Given the description of an element on the screen output the (x, y) to click on. 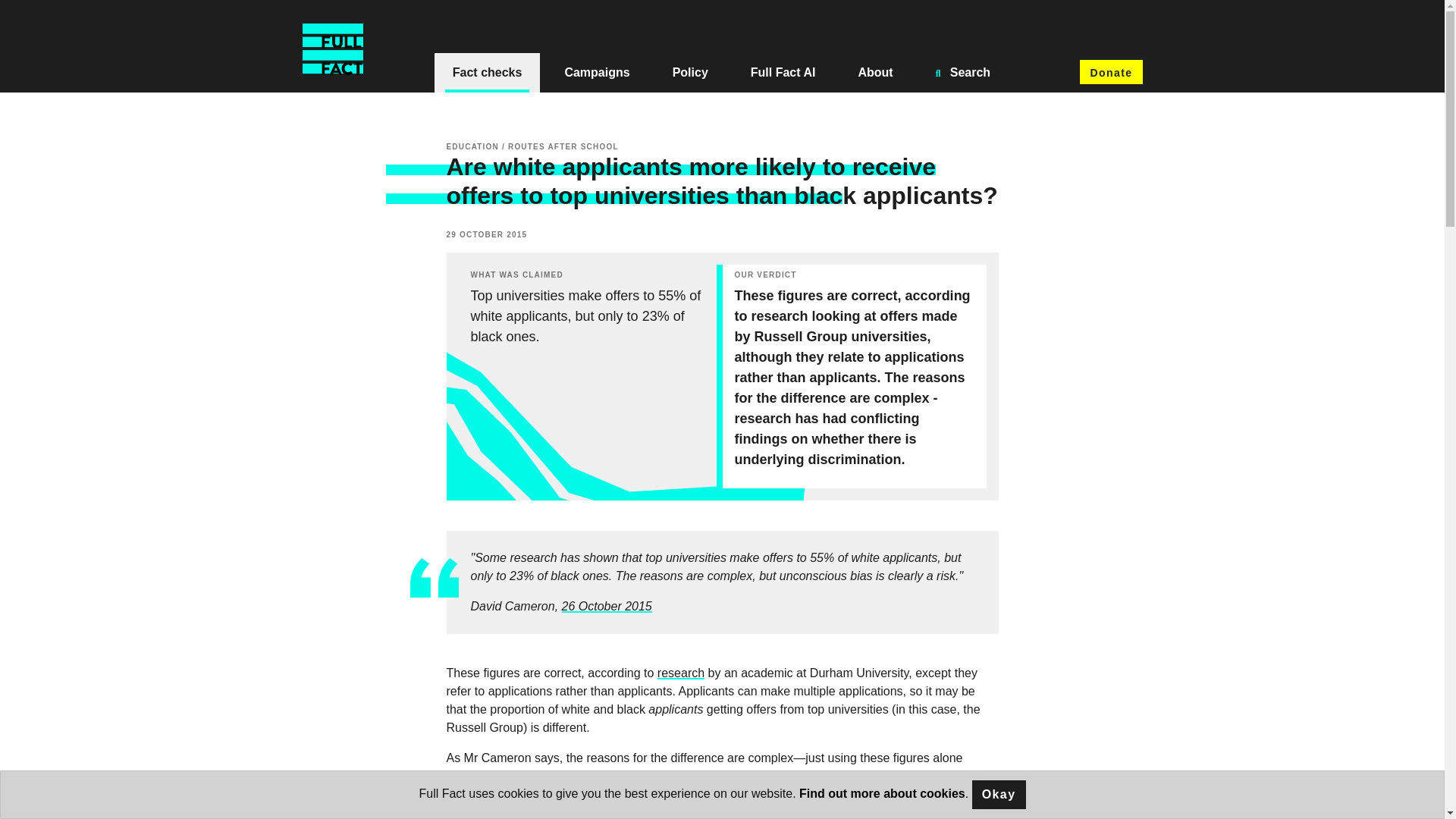
Donate (1110, 71)
Policy (689, 72)
Campaigns (596, 72)
About (875, 72)
Fact checks (486, 72)
Full Fact AI (783, 72)
